Given the description of an element on the screen output the (x, y) to click on. 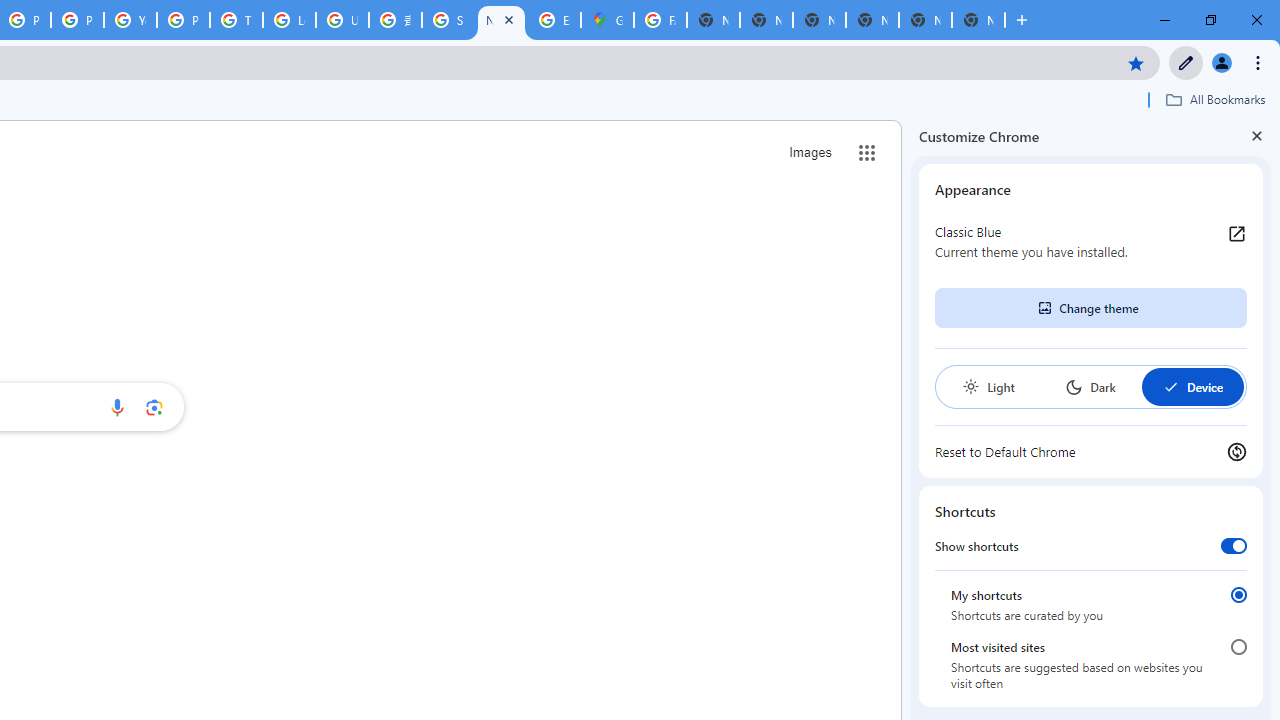
Show shortcuts (1233, 545)
AutomationID: baseSvg (1170, 386)
Change theme (1090, 308)
Explore new street-level details - Google Maps Help (554, 20)
My shortcuts (1238, 594)
Dark (1090, 386)
